Given the description of an element on the screen output the (x, y) to click on. 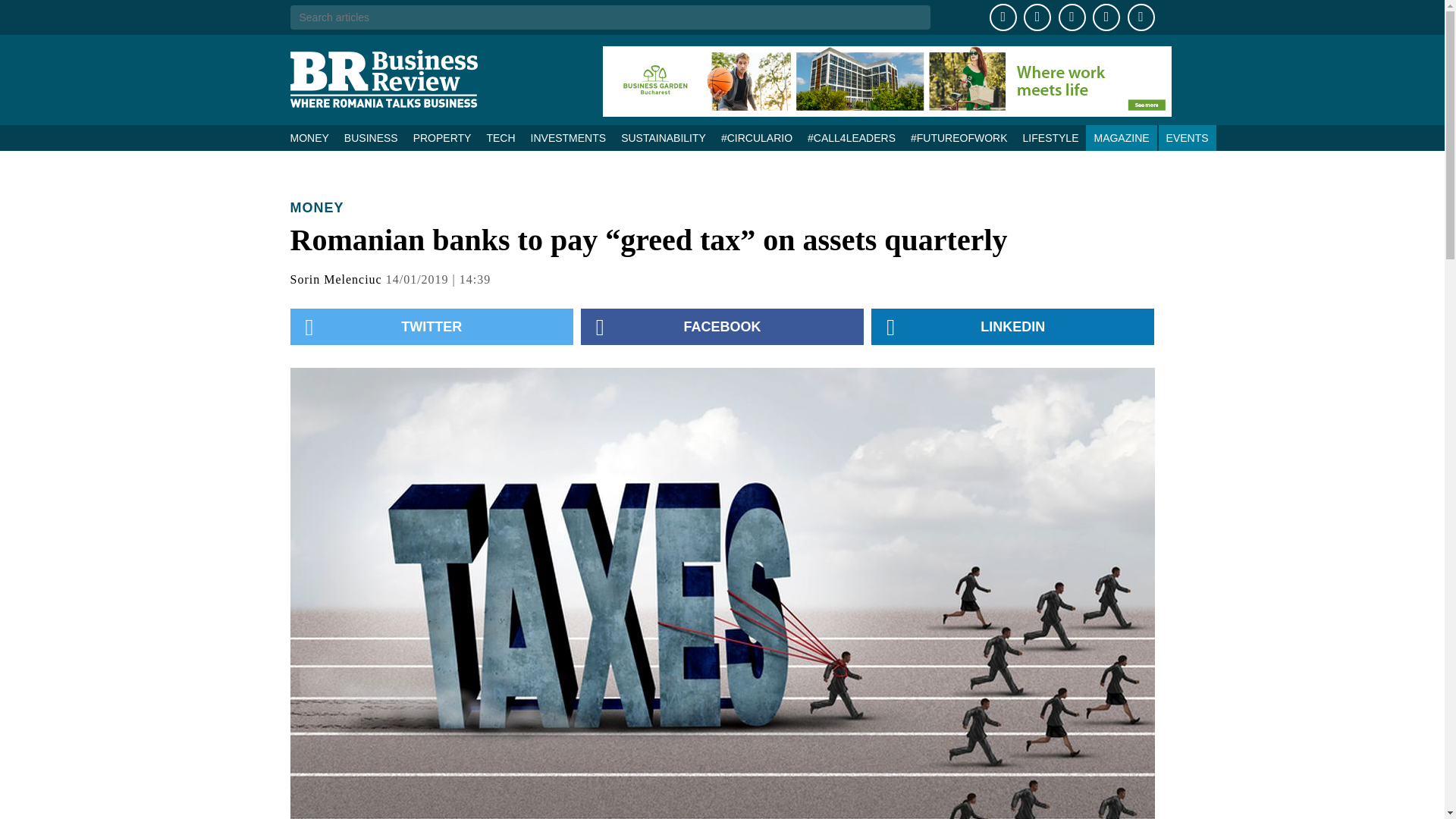
FACEBOOK (721, 326)
INVESTMENTS (568, 137)
EVENTS (1186, 137)
BUSINESS (371, 137)
MONEY (316, 207)
Sorin Melenciuc (335, 278)
PROPERTY (442, 137)
LIFESTYLE (1050, 137)
TWITTER (430, 326)
MAGAZINE (1121, 137)
